Given the description of an element on the screen output the (x, y) to click on. 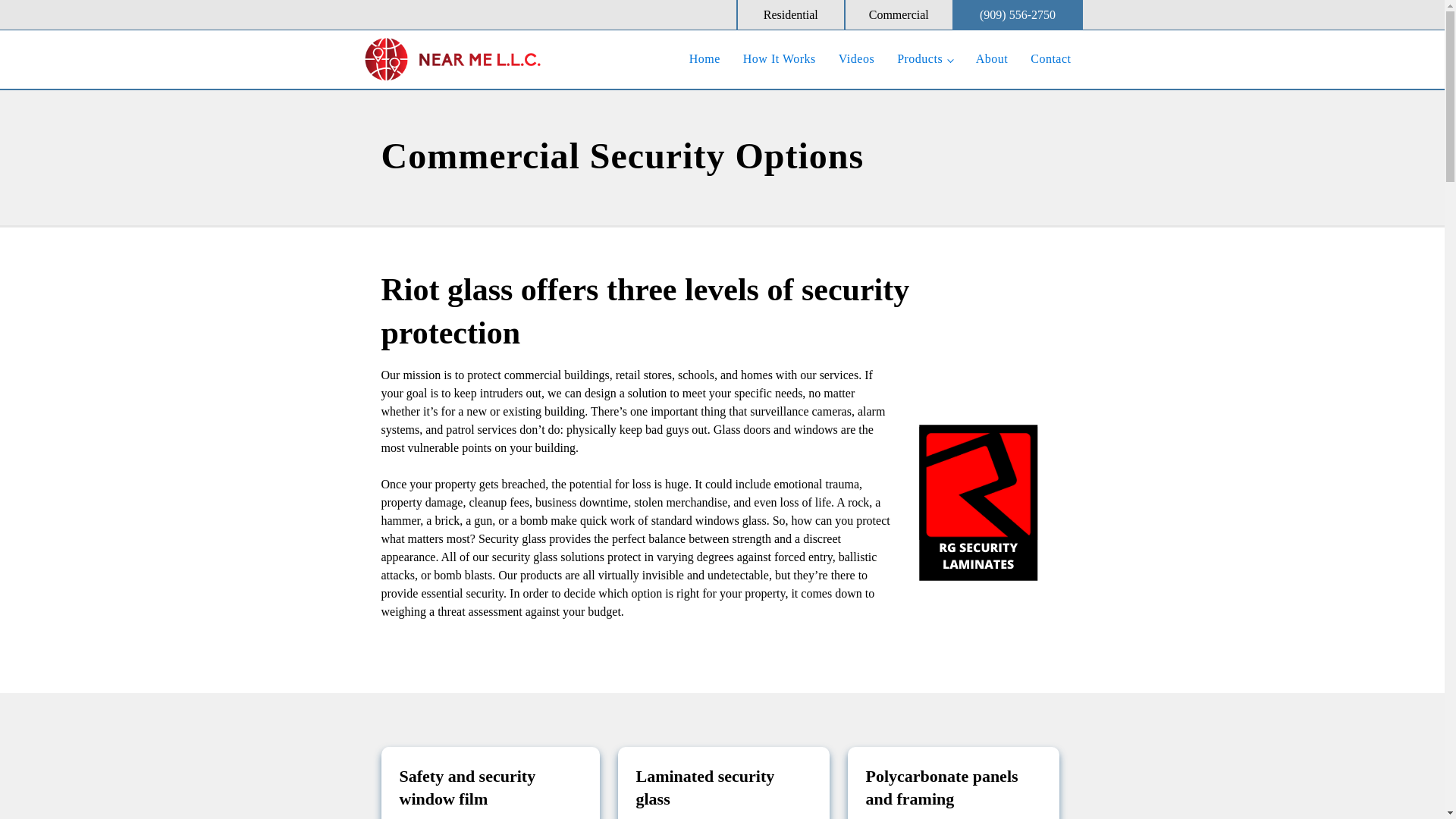
Commercial (898, 15)
About (991, 58)
Contact (1050, 58)
Residential (790, 15)
Products (924, 58)
Home (705, 58)
How It Works (779, 58)
Videos (856, 58)
